Given the description of an element on the screen output the (x, y) to click on. 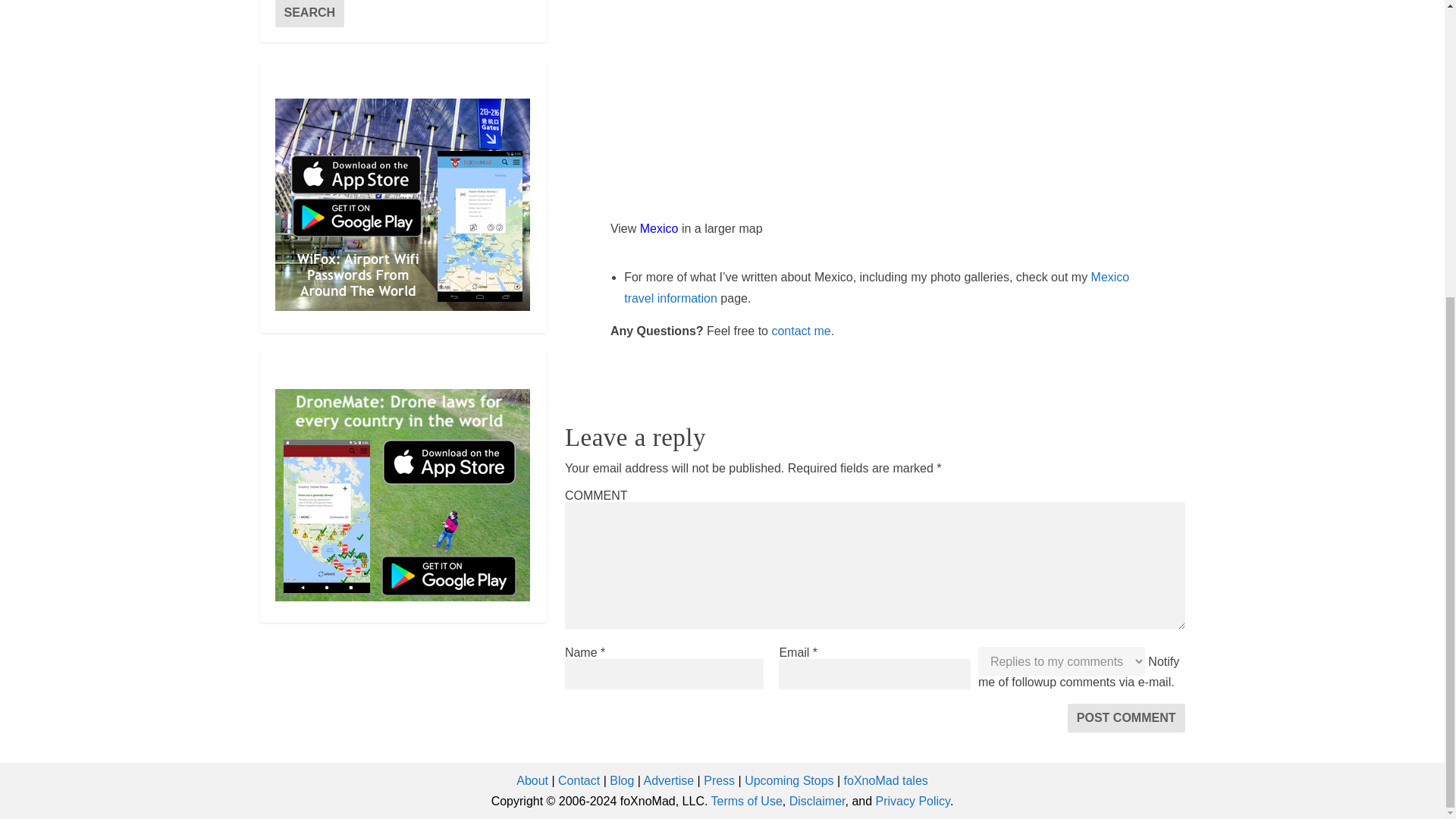
foXnoMad tales (886, 780)
Mexico (659, 228)
Post Comment (1126, 717)
Mexico travel information (876, 287)
Terms of Use (747, 800)
Contact (578, 780)
Privacy Policy (913, 800)
Advertise (668, 780)
Post Comment (1126, 717)
Press (719, 780)
